Given the description of an element on the screen output the (x, y) to click on. 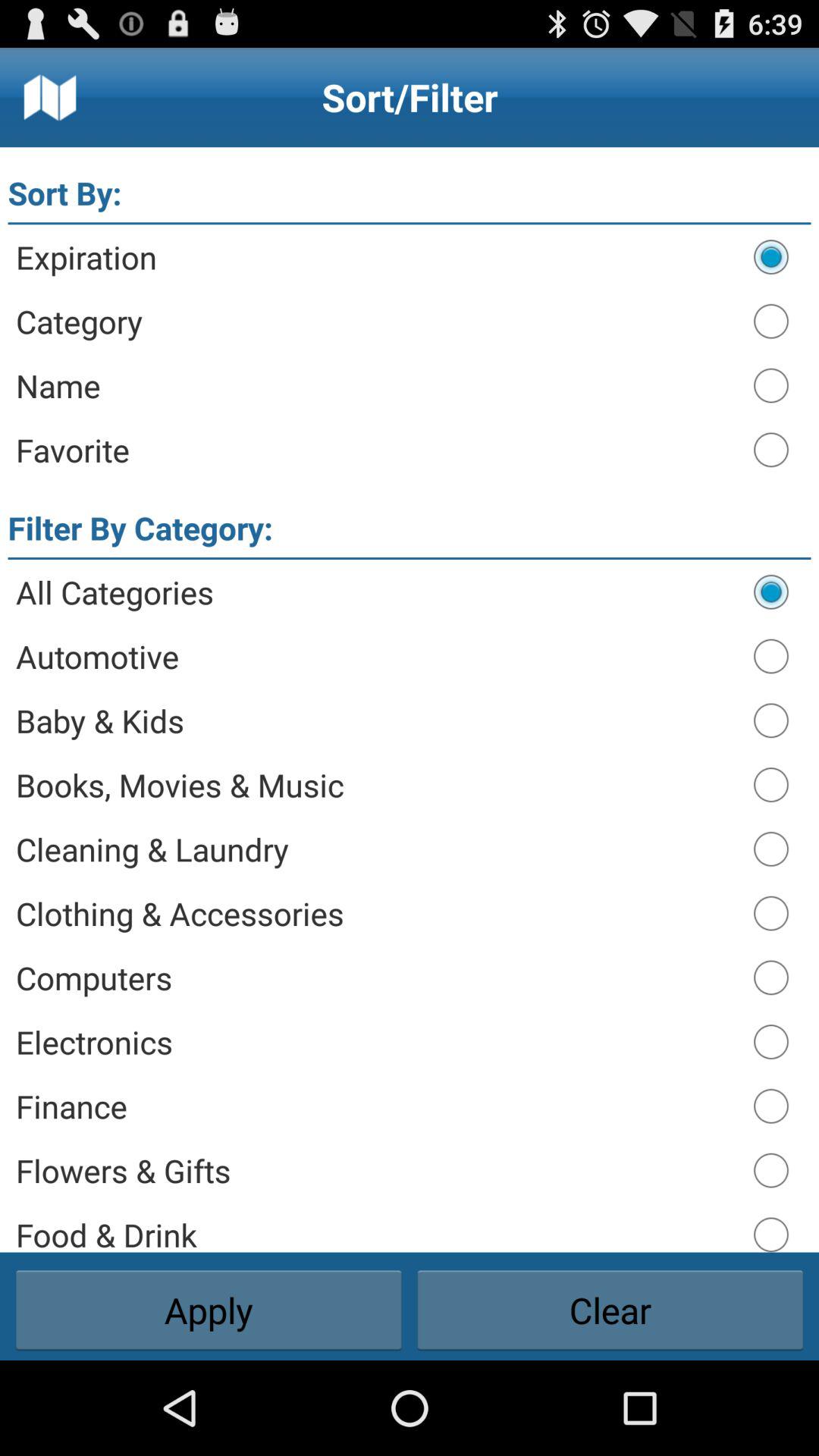
jump to the all categories icon (377, 591)
